Given the description of an element on the screen output the (x, y) to click on. 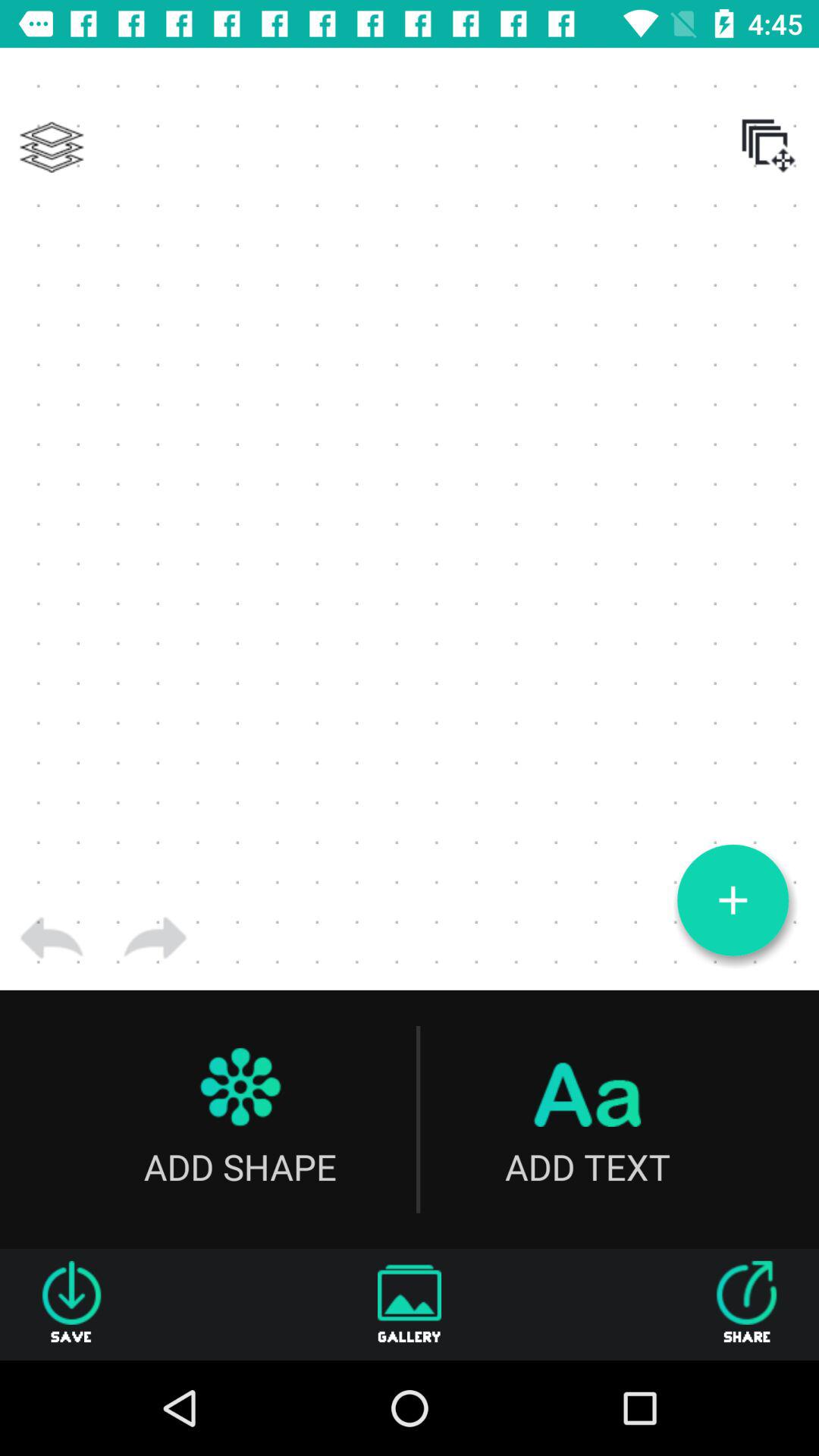
press icon next to save icon (409, 1304)
